Given the description of an element on the screen output the (x, y) to click on. 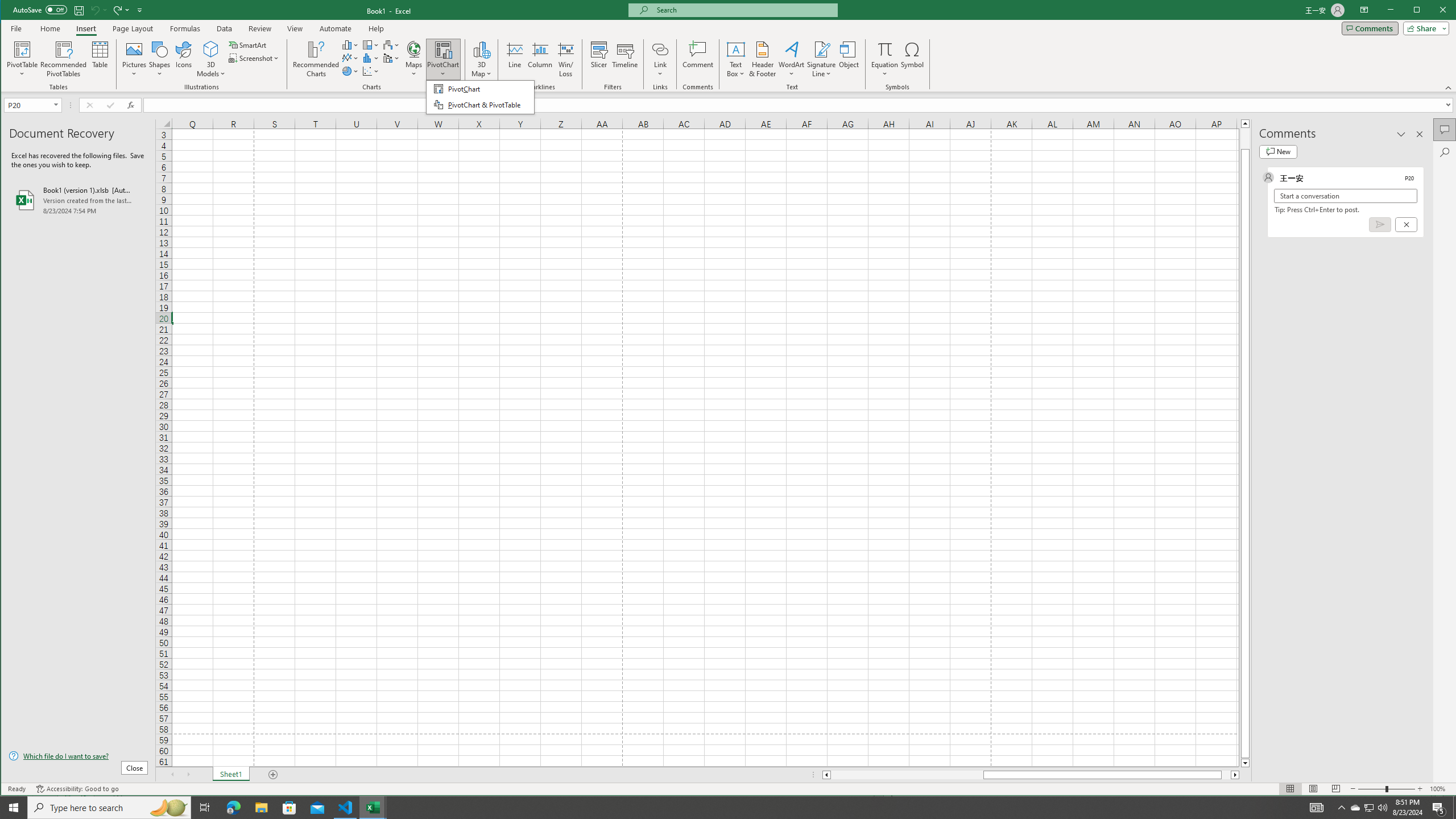
Equation (884, 59)
Insert Pie or Doughnut Chart (350, 70)
Start (13, 807)
Insert Waterfall, Funnel, Stock, Surface, or Radar Chart (391, 44)
Insert Line or Area Chart (350, 57)
Recommended PivotTables (63, 59)
SmartArt... (248, 44)
File Explorer (261, 807)
Q2790: 100% (1382, 807)
PivotChart (443, 48)
Line (514, 59)
Running applications (717, 807)
Column (540, 59)
